Given the description of an element on the screen output the (x, y) to click on. 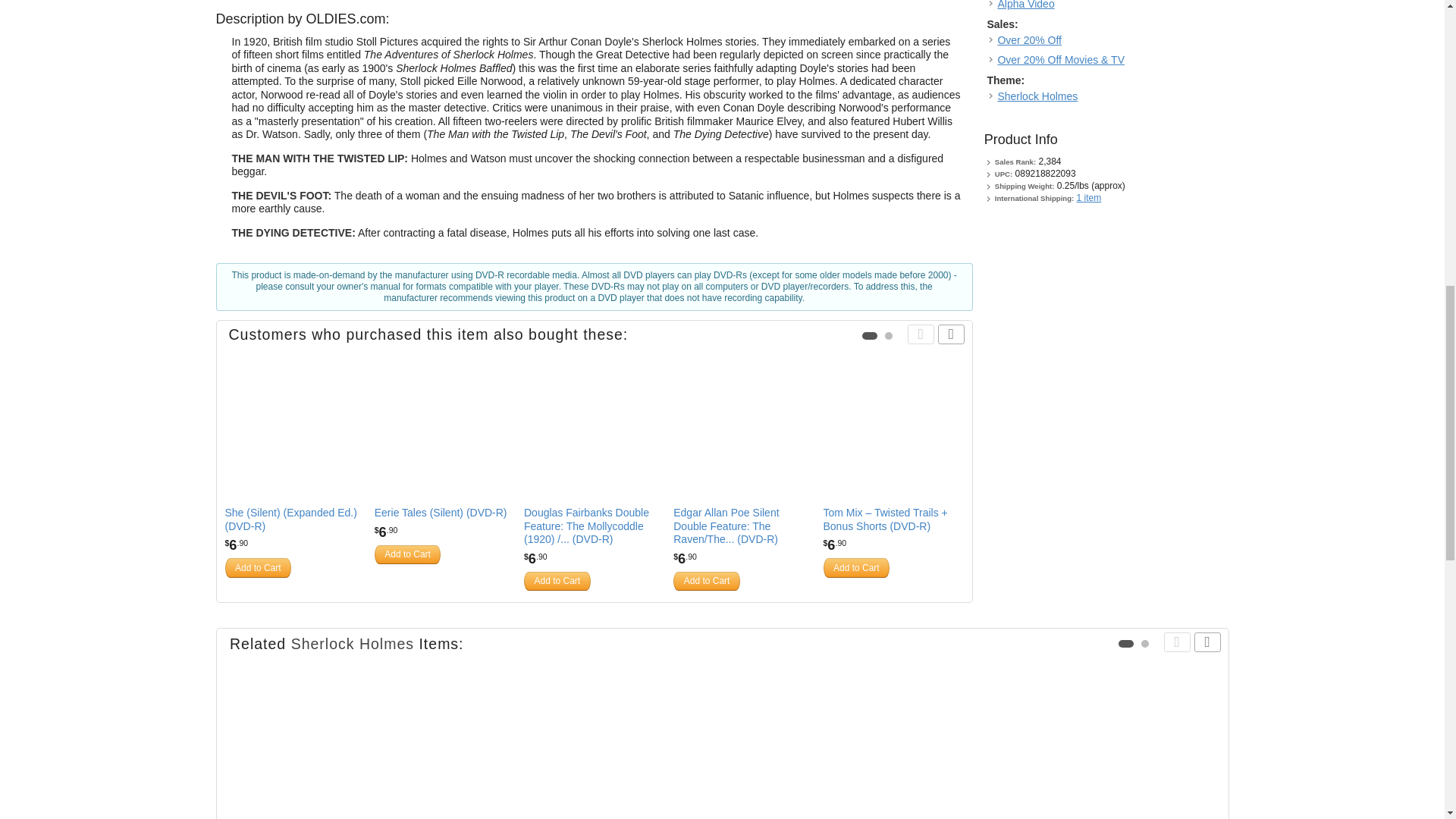
Add to Cart (557, 581)
Add to Cart (407, 554)
Add to Cart (257, 567)
